Given the description of an element on the screen output the (x, y) to click on. 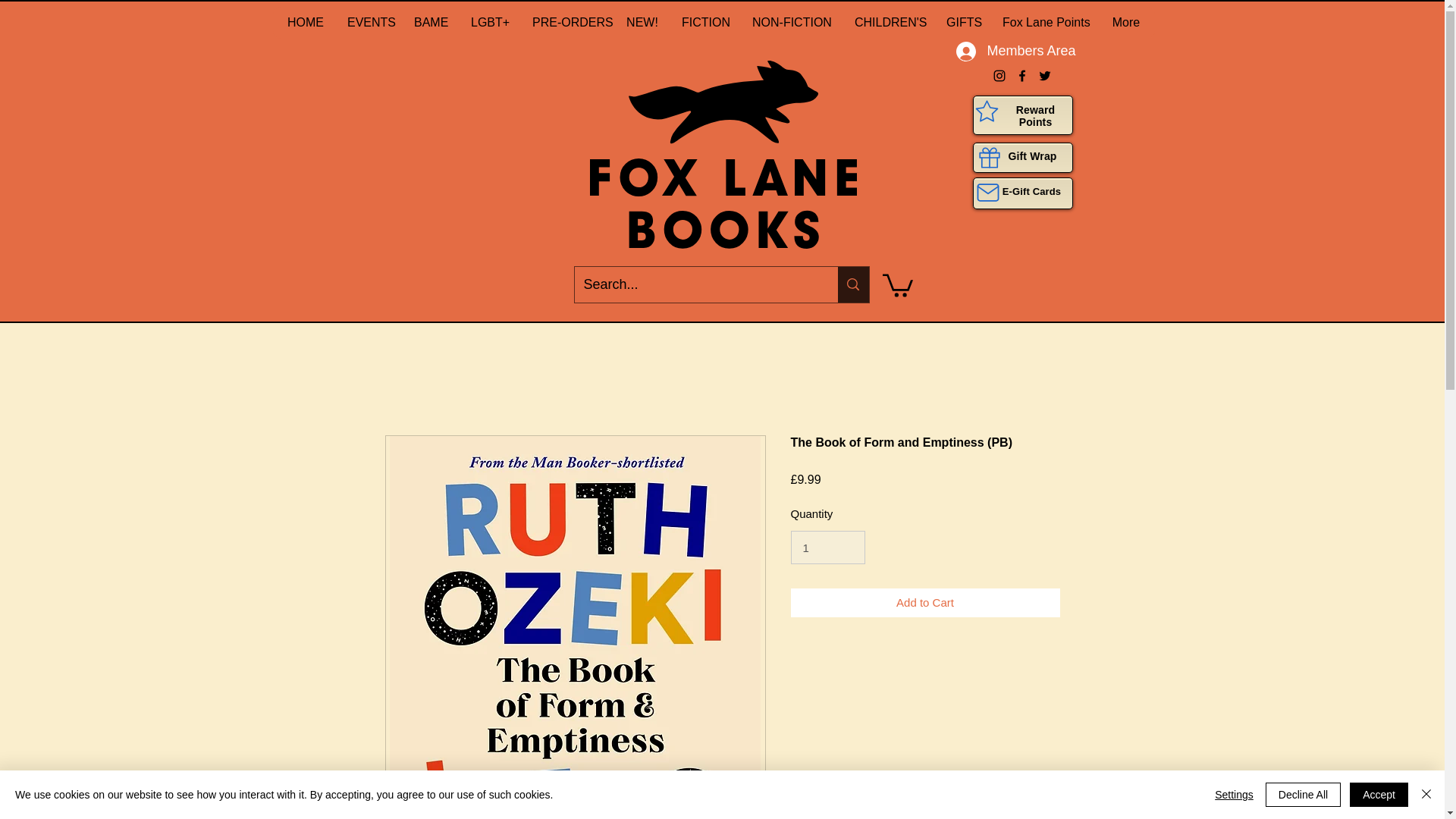
FICTION (704, 22)
1 (827, 547)
NEW! (641, 22)
PRE-ORDERS (566, 22)
NON-FICTION (791, 22)
HOME (304, 22)
BAME (429, 22)
